Given the description of an element on the screen output the (x, y) to click on. 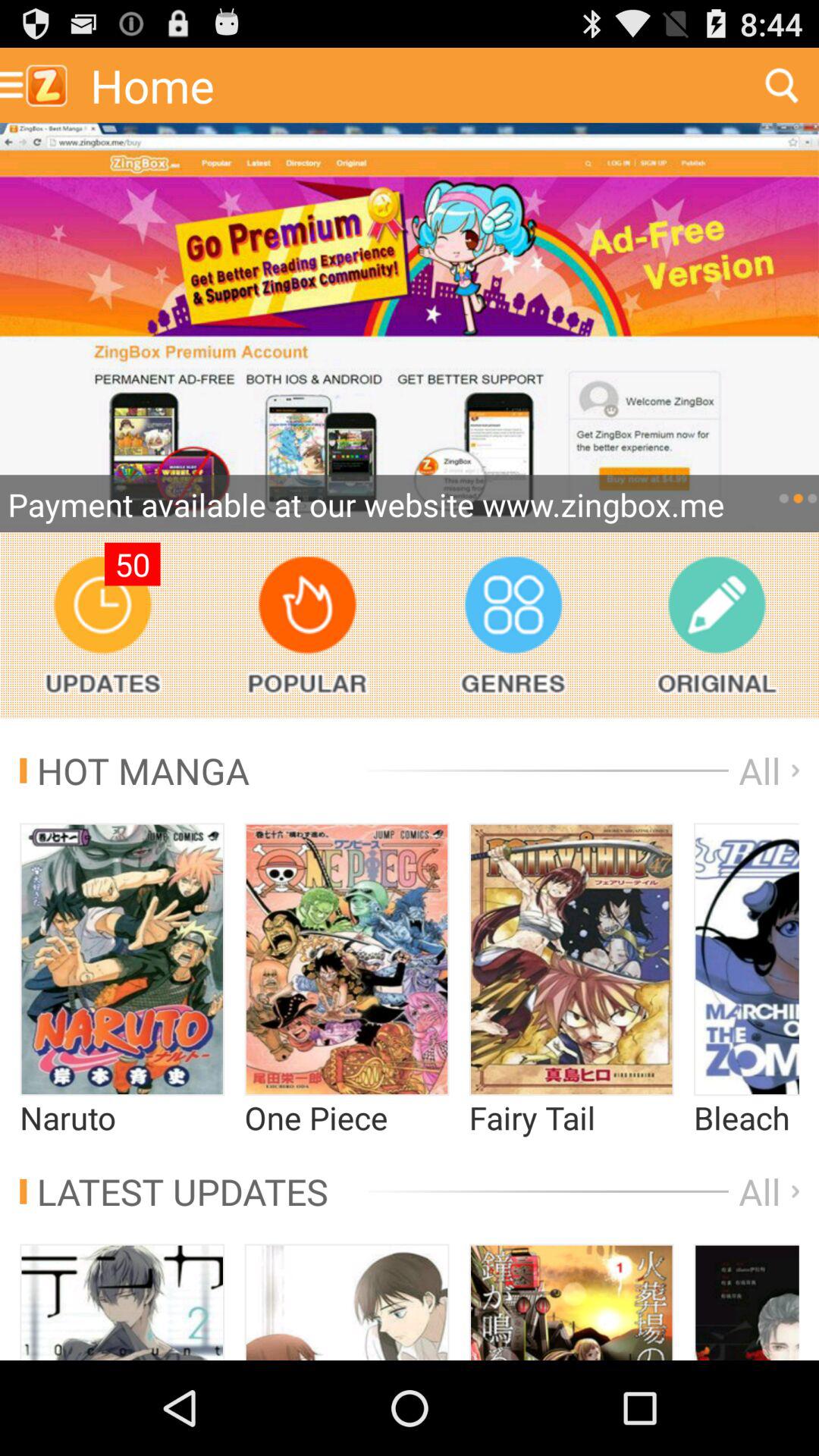
go to website (409, 327)
